Given the description of an element on the screen output the (x, y) to click on. 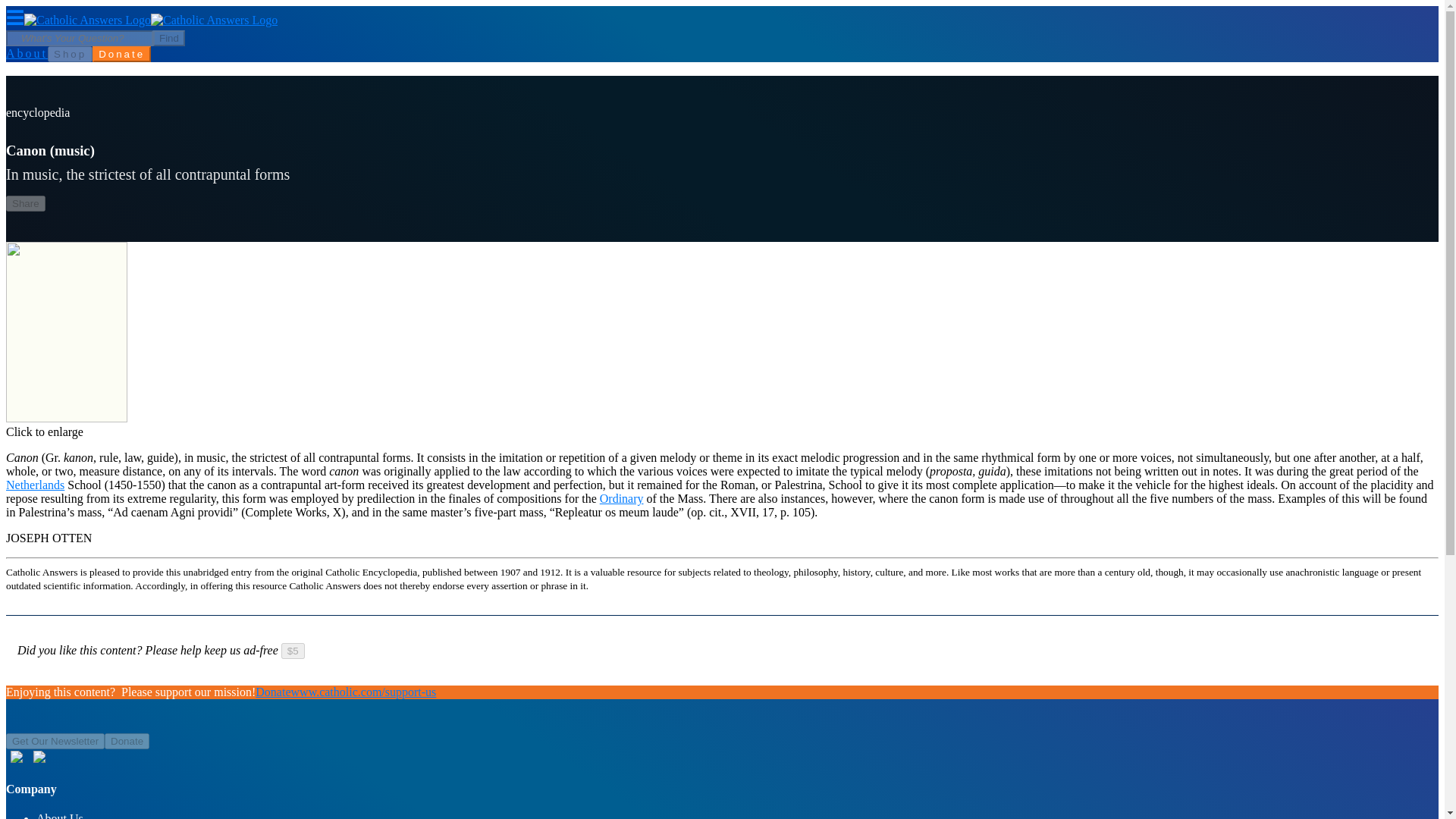
Shop (70, 53)
Shop (70, 52)
Find (168, 37)
Donate (122, 53)
About (26, 52)
